Given the description of an element on the screen output the (x, y) to click on. 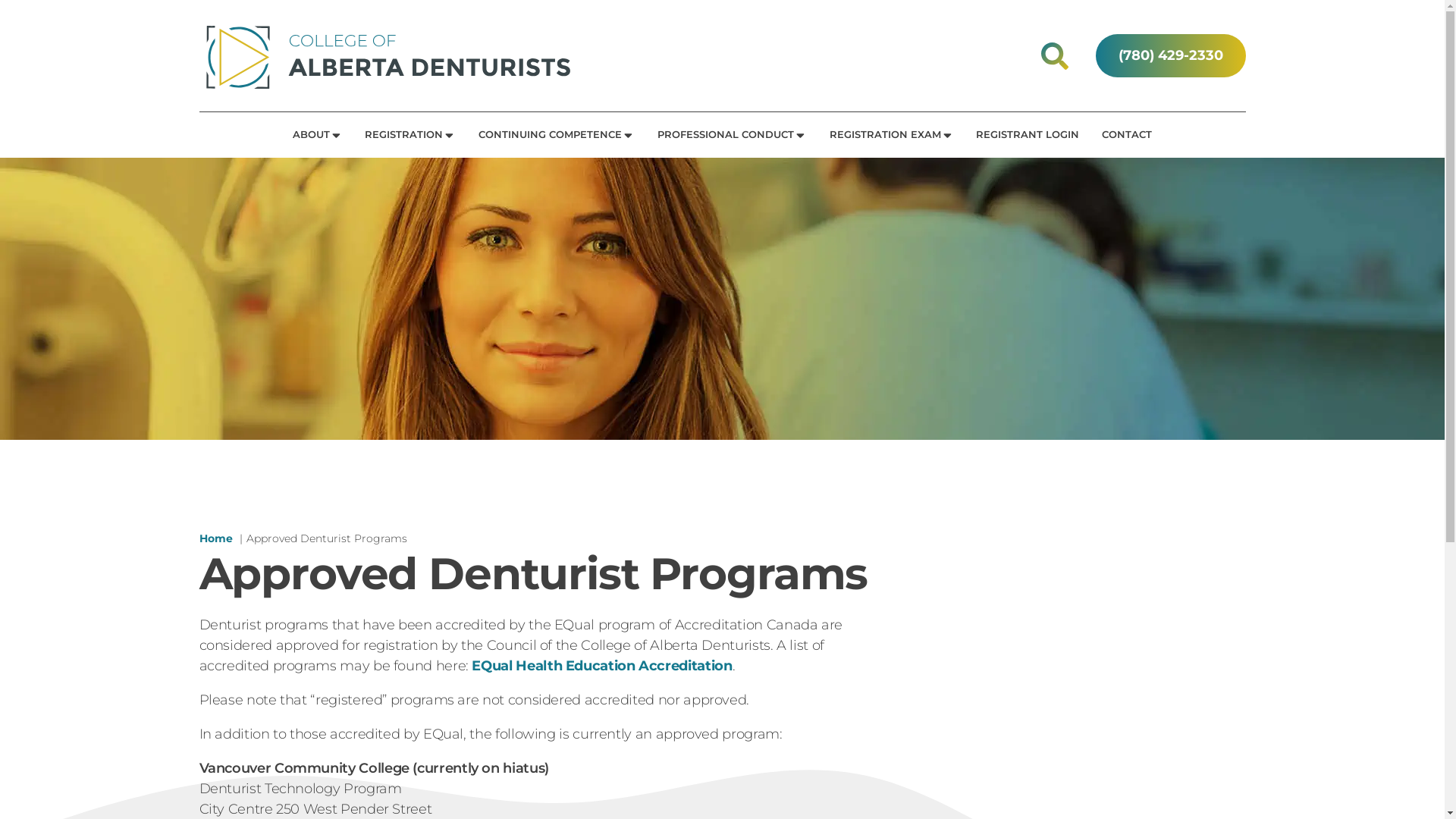
REGISTRATION EXAM Element type: text (891, 134)
CONTINUING COMPETENCE Element type: text (556, 134)
Home Element type: text (215, 538)
EQual Health Education Accreditation Element type: text (601, 665)
Search Element type: text (29, 10)
REGISTRANT LOGIN Element type: text (1027, 134)
CONTACT Element type: text (1126, 134)
ABOUT Element type: text (316, 134)
(780) 429-2330 Element type: text (1170, 55)
PROFESSIONAL CONDUCT Element type: text (732, 134)
REGISTRATION Element type: text (410, 134)
